Given the description of an element on the screen output the (x, y) to click on. 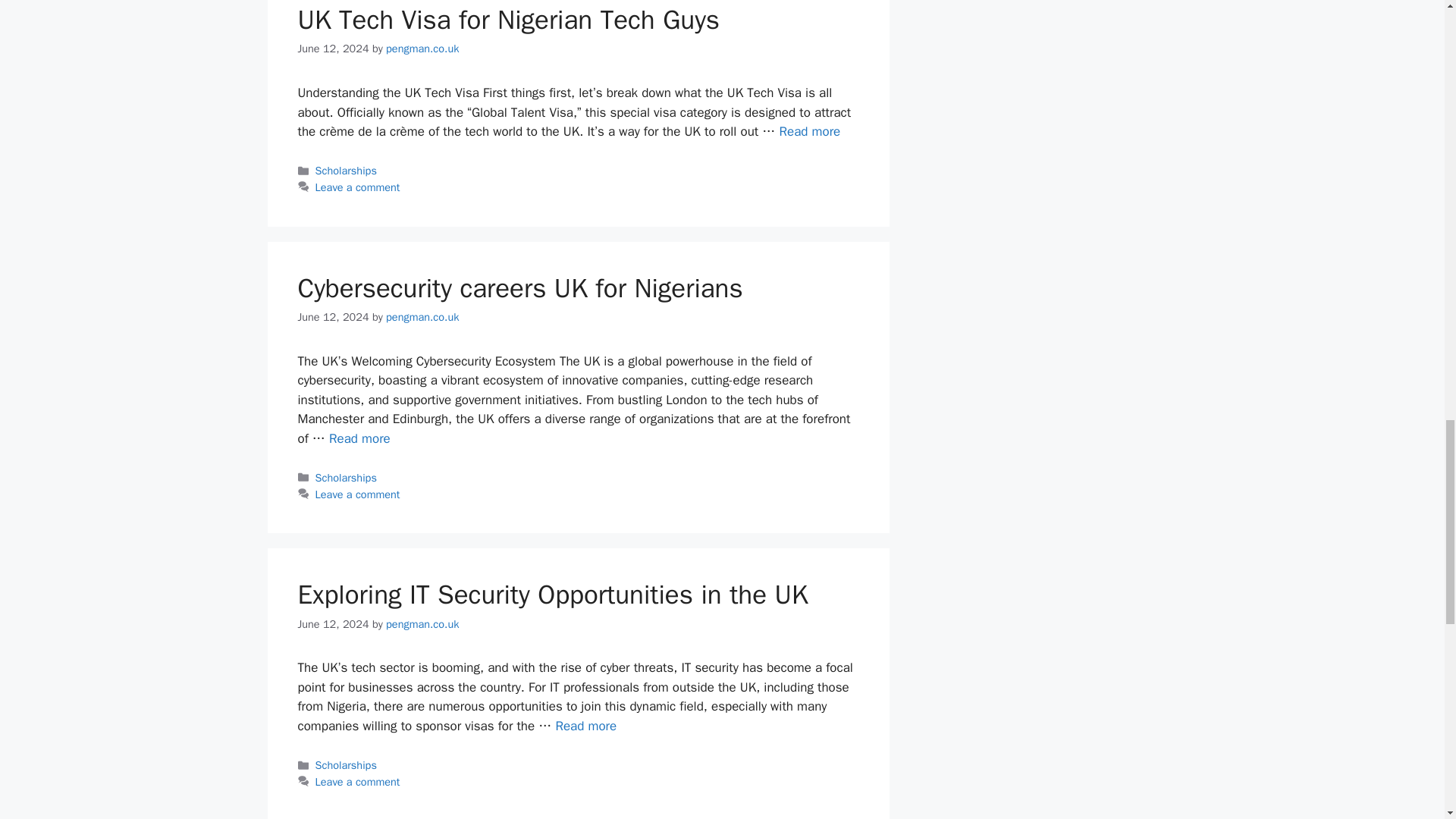
Cybersecurity careers UK for Nigerians (359, 438)
View all posts by pengman.co.uk (421, 48)
View all posts by pengman.co.uk (421, 316)
View all posts by pengman.co.uk (421, 623)
UK Tech Visa for Nigerian Tech Guys (508, 19)
UK Tech Visa for Nigerian Tech Guys (809, 131)
pengman.co.uk (421, 48)
Read more (809, 131)
Scholarships (346, 170)
Exploring IT Security Opportunities in the UK (584, 725)
